Given the description of an element on the screen output the (x, y) to click on. 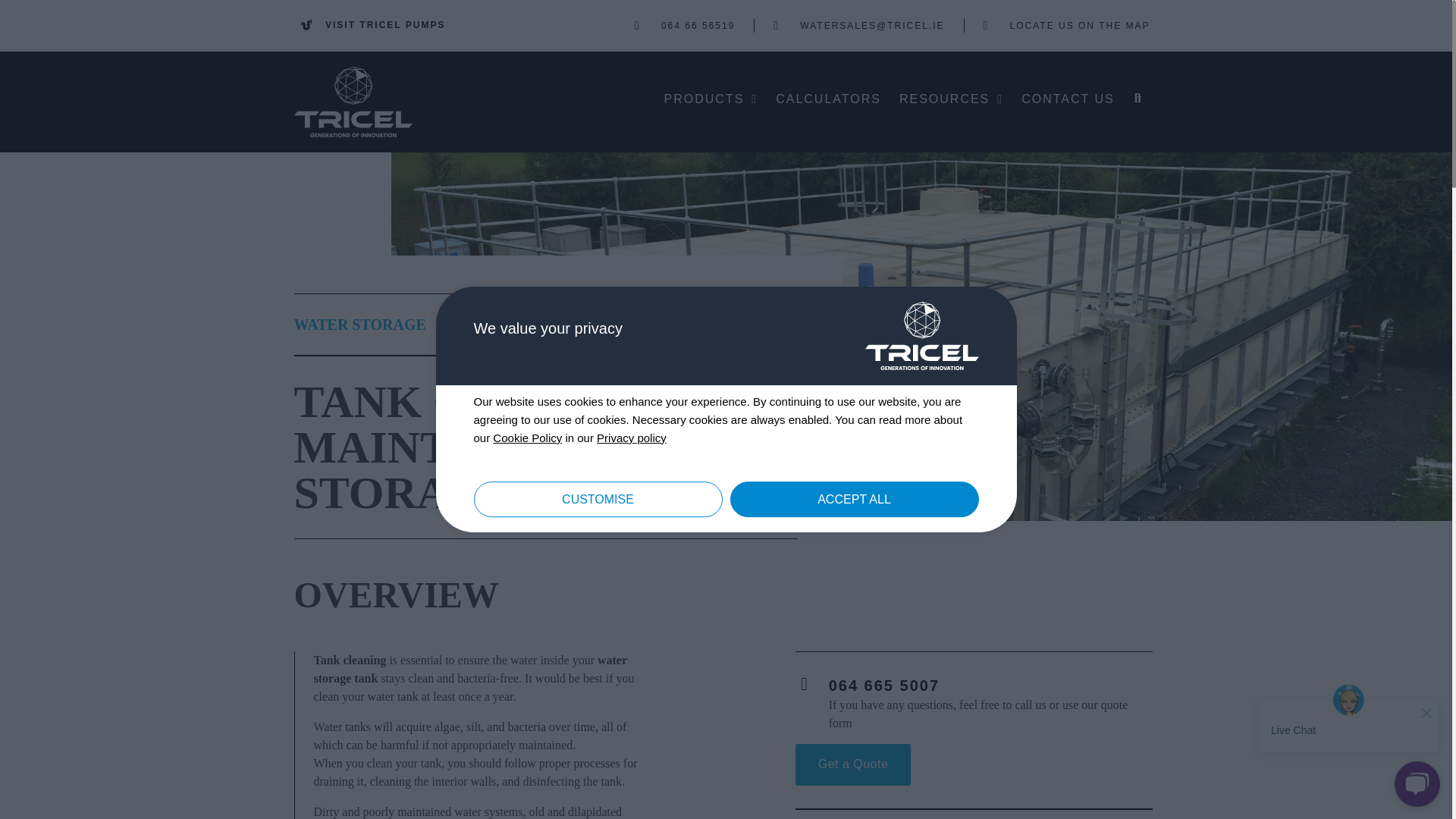
LOCATE US ON THE MAP (1067, 25)
CONTACT US (1067, 98)
RESOURCES (950, 98)
Privacy policy (631, 437)
ACCEPT ALL (853, 498)
CALCULATORS (828, 98)
064 66 56519 (684, 25)
Cookie Policy (527, 437)
PRODUCTS (711, 98)
VISIT TRICEL PUMPS (372, 24)
CUSTOMISE (597, 498)
